Given the description of an element on the screen output the (x, y) to click on. 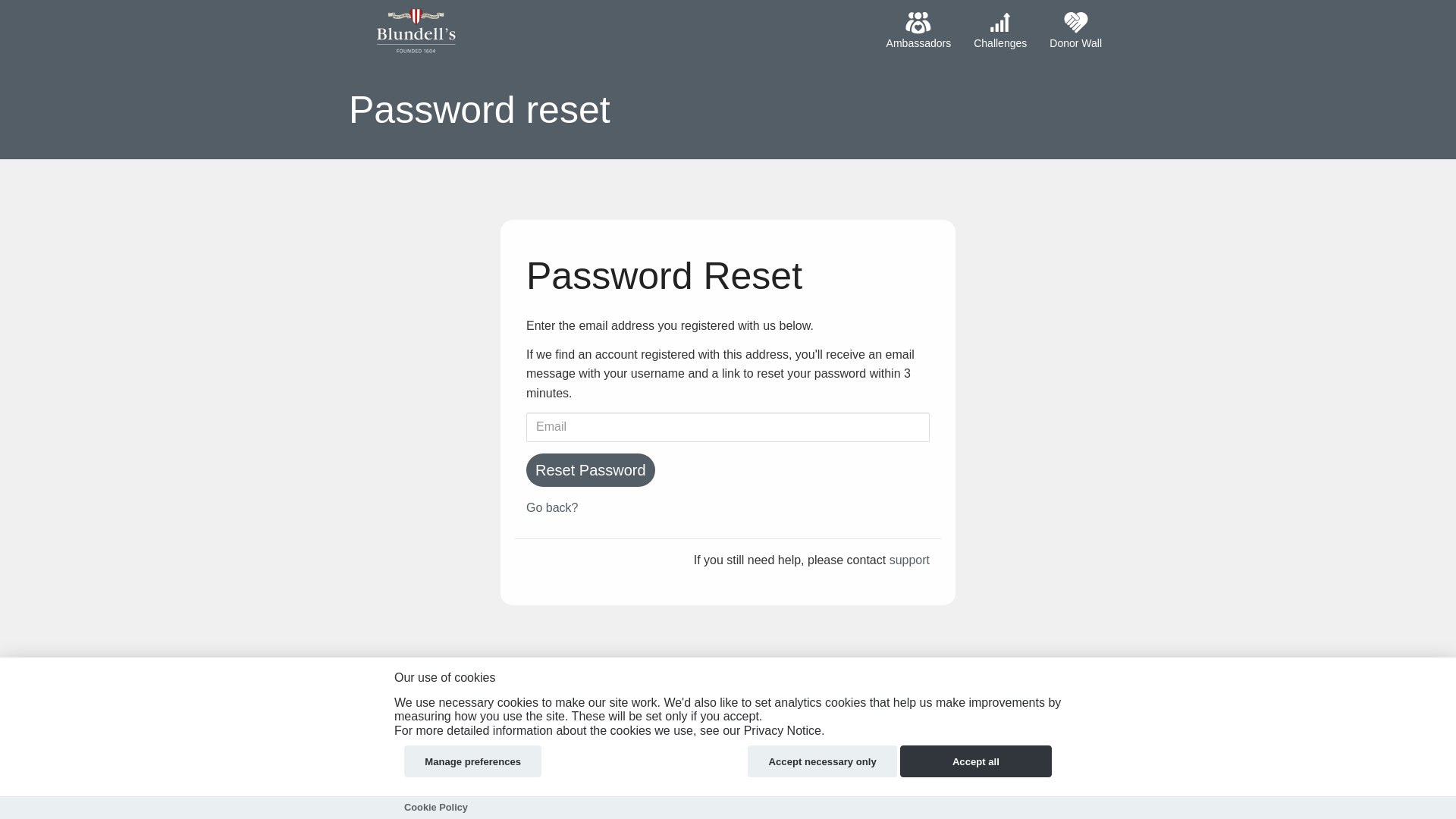
Terms and Conditions (517, 694)
Challenges (1000, 32)
Privacy Notice   (630, 694)
support (909, 559)
Donor Wall (1075, 32)
Cookie Policy   (729, 694)
Accept necessary only (822, 761)
Admin login (396, 693)
Accept all (975, 761)
Reset Password (590, 469)
Go back? (551, 507)
Part of the Hubbub Community (727, 748)
Manage preferences (472, 761)
Ambassadors (918, 32)
Cookie Policy (435, 807)
